Given the description of an element on the screen output the (x, y) to click on. 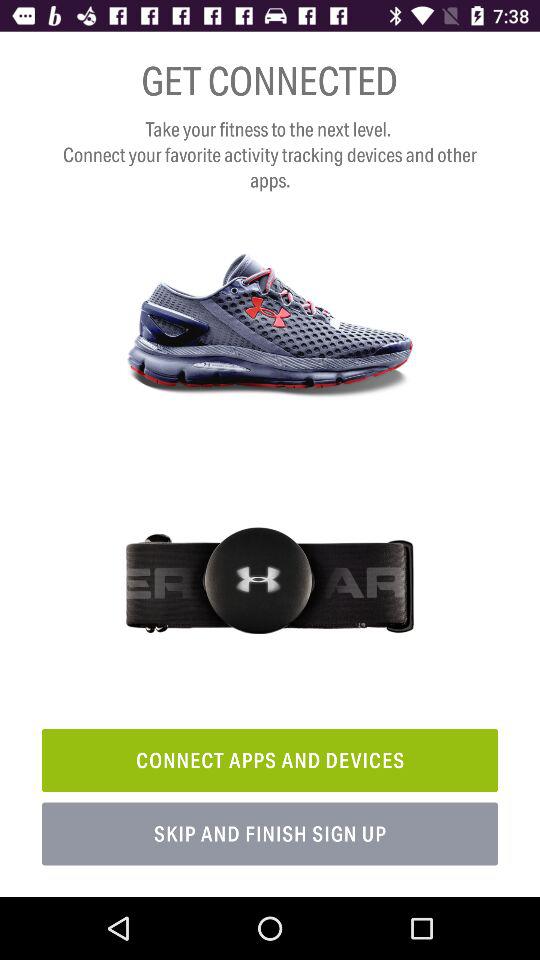
open the skip and finish (269, 833)
